Given the description of an element on the screen output the (x, y) to click on. 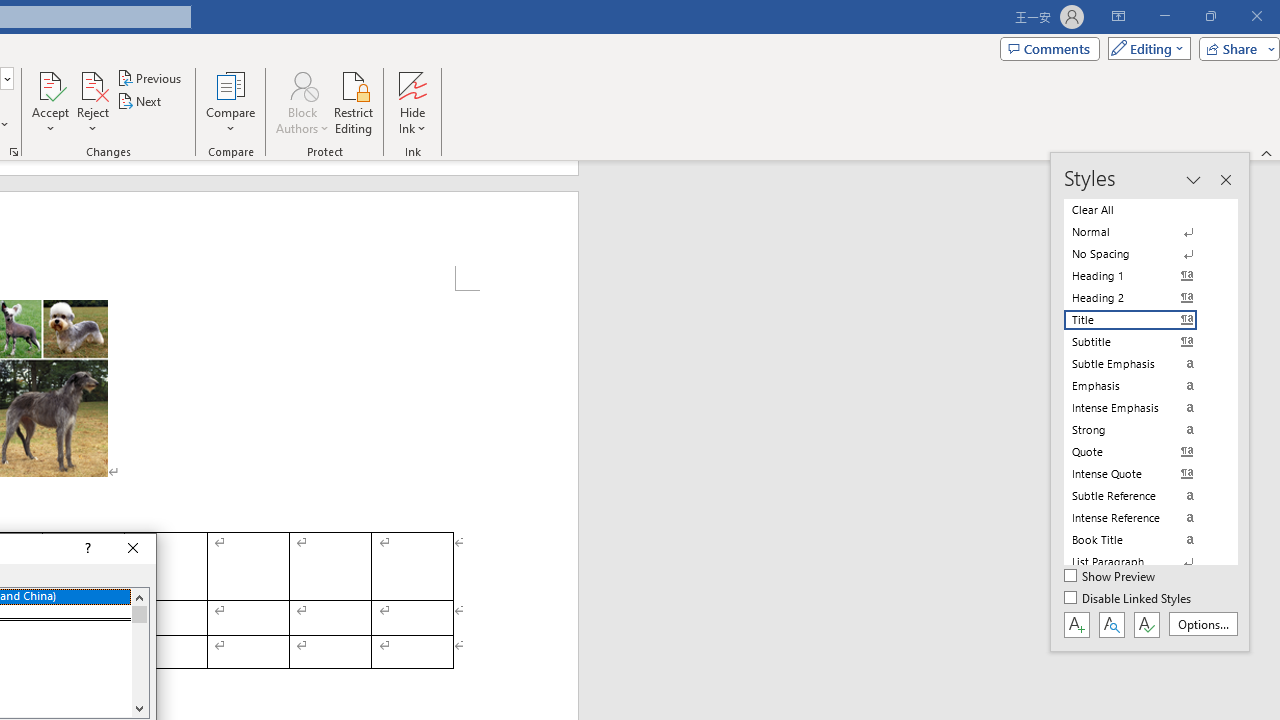
Reject and Move to Next (92, 84)
Accept and Move to Next (50, 84)
Restrict Editing (353, 102)
Accept (50, 102)
Line down (139, 708)
Page down (139, 660)
AutomationID: 21 (139, 652)
No Spacing (1142, 253)
